Given the description of an element on the screen output the (x, y) to click on. 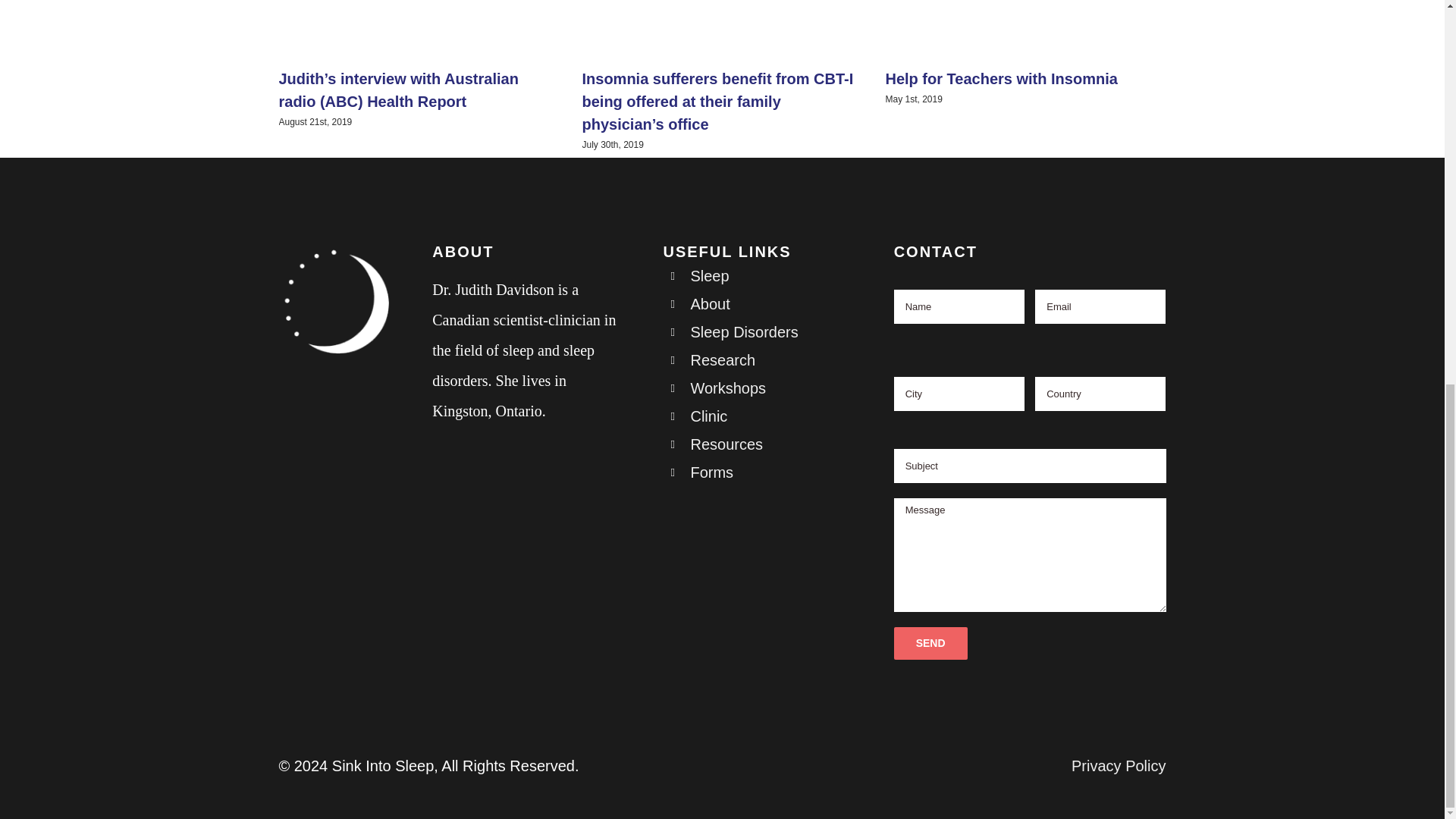
Clinic (708, 416)
About (709, 303)
Resources (726, 443)
Send (930, 643)
Help for Teachers with Insomnia (1000, 78)
Sleep Disorders (743, 331)
Privacy Policy (1118, 765)
Help for Teachers with Insomnia (1000, 78)
Research (722, 360)
Forms (711, 472)
Send (930, 643)
Sleep (709, 275)
moon-logo (337, 303)
Workshops (727, 388)
